Given the description of an element on the screen output the (x, y) to click on. 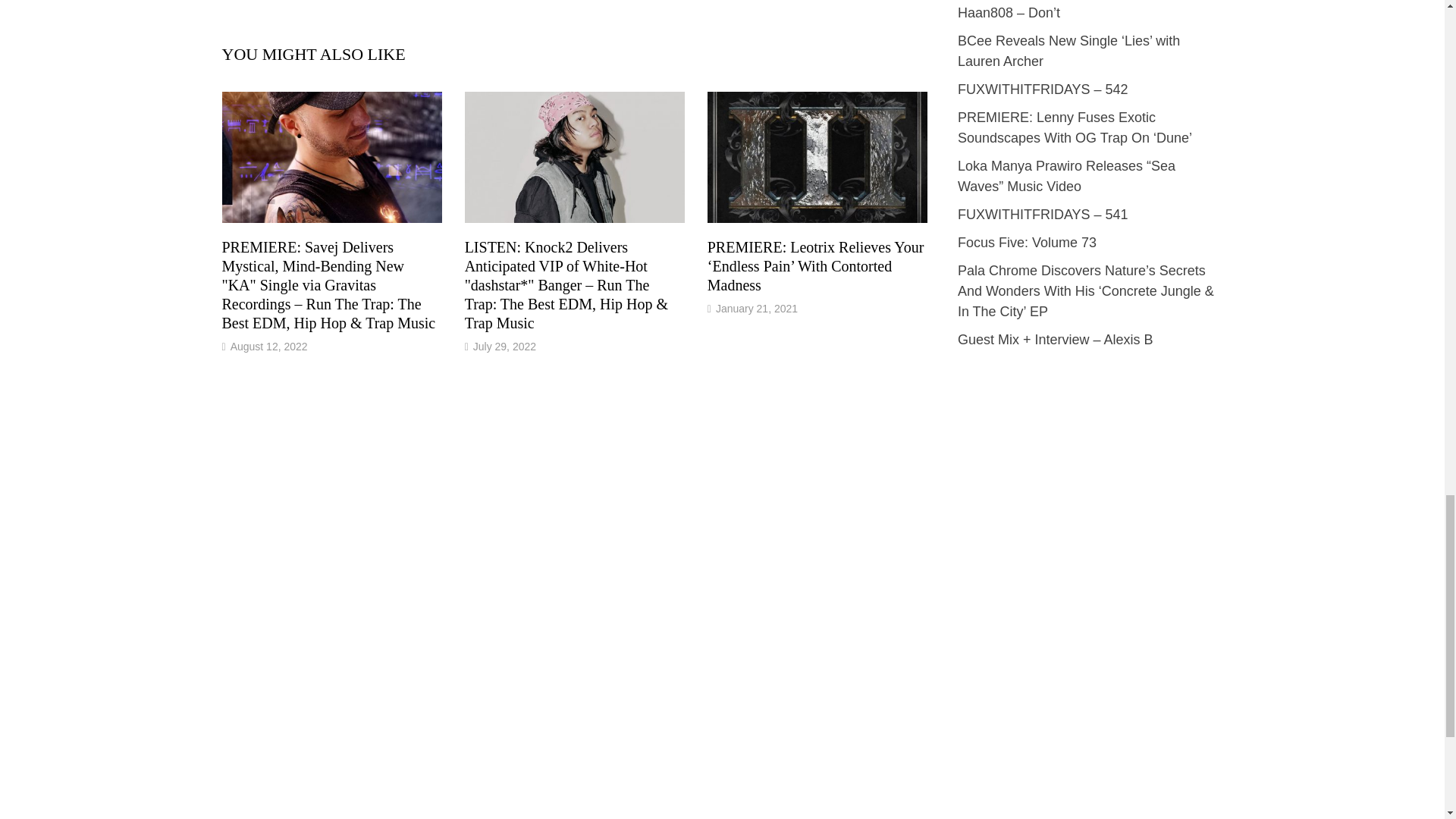
July 29, 2022 (504, 346)
August 12, 2022 (268, 346)
Focus Five: Volume 73 (1027, 242)
January 21, 2021 (756, 308)
